Given the description of an element on the screen output the (x, y) to click on. 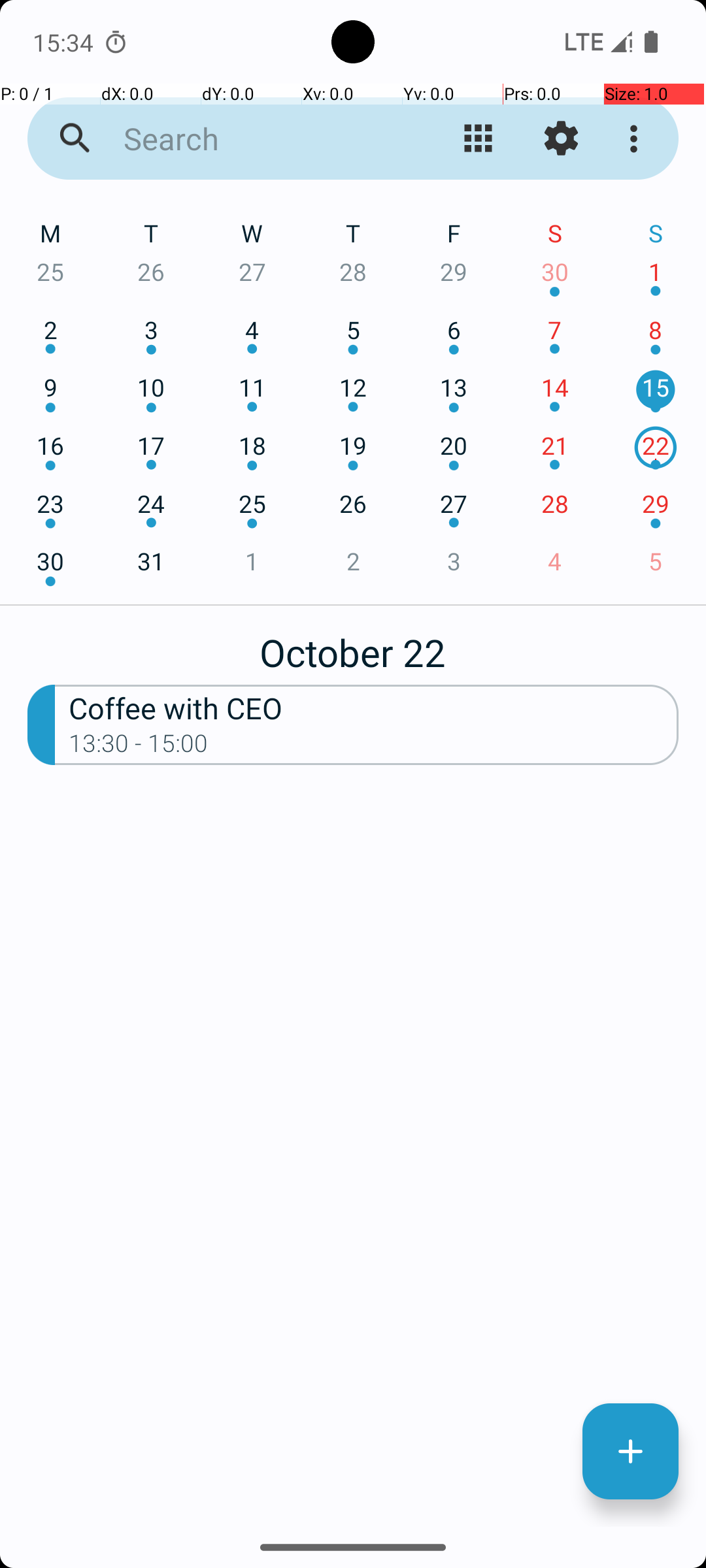
October 22 Element type: android.widget.TextView (352, 644)
Coffee with CEO Element type: android.widget.TextView (373, 706)
13:30 - 15:00 Element type: android.widget.TextView (137, 747)
